Given the description of an element on the screen output the (x, y) to click on. 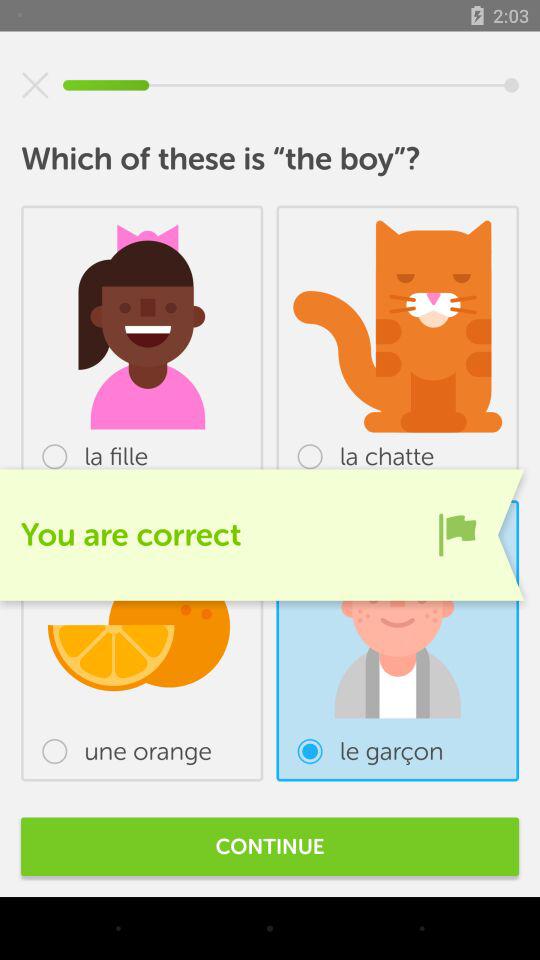
select item above the which of these (35, 85)
